Given the description of an element on the screen output the (x, y) to click on. 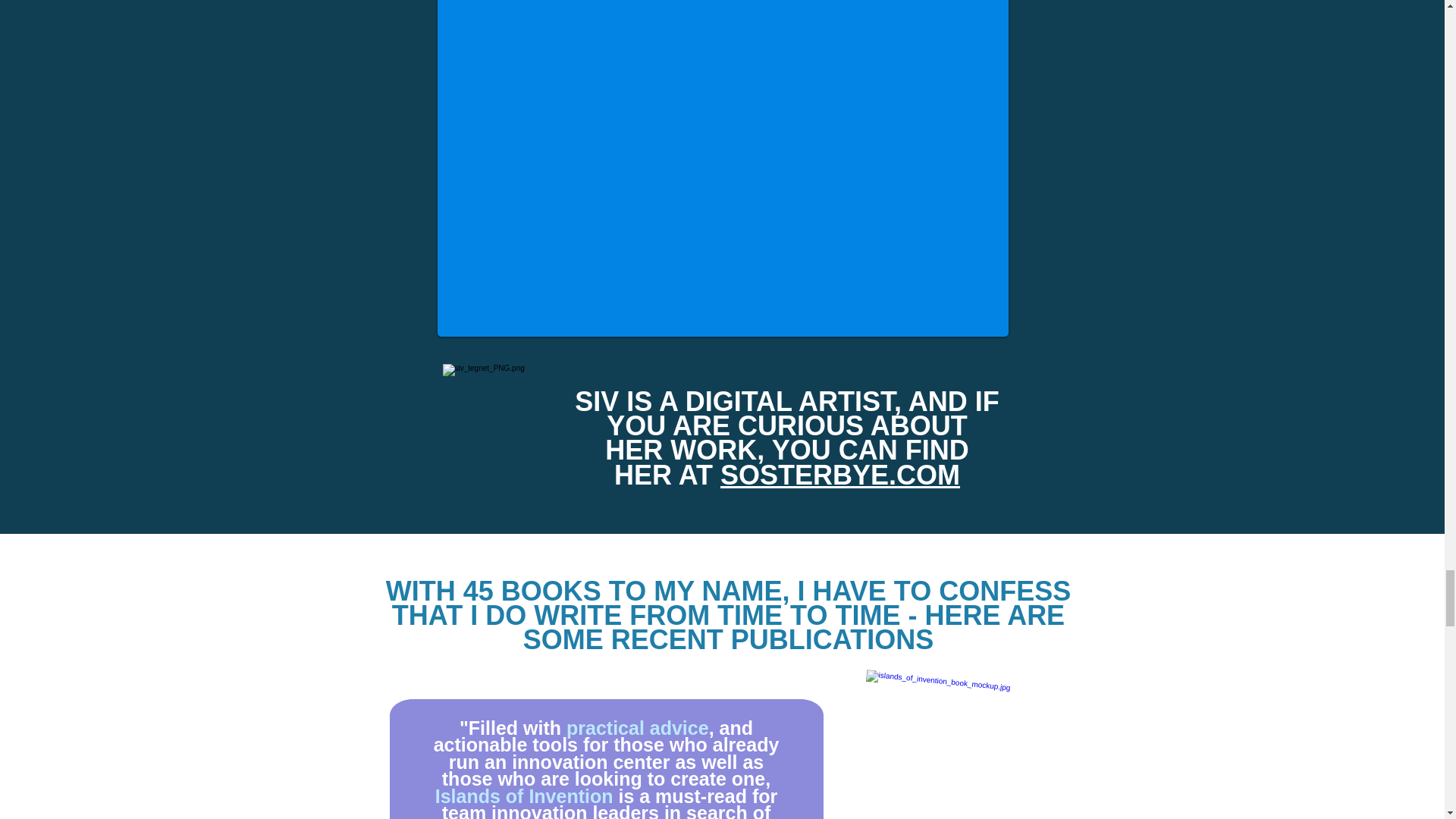
SOSTERBYE.COM (839, 474)
